Given the description of an element on the screen output the (x, y) to click on. 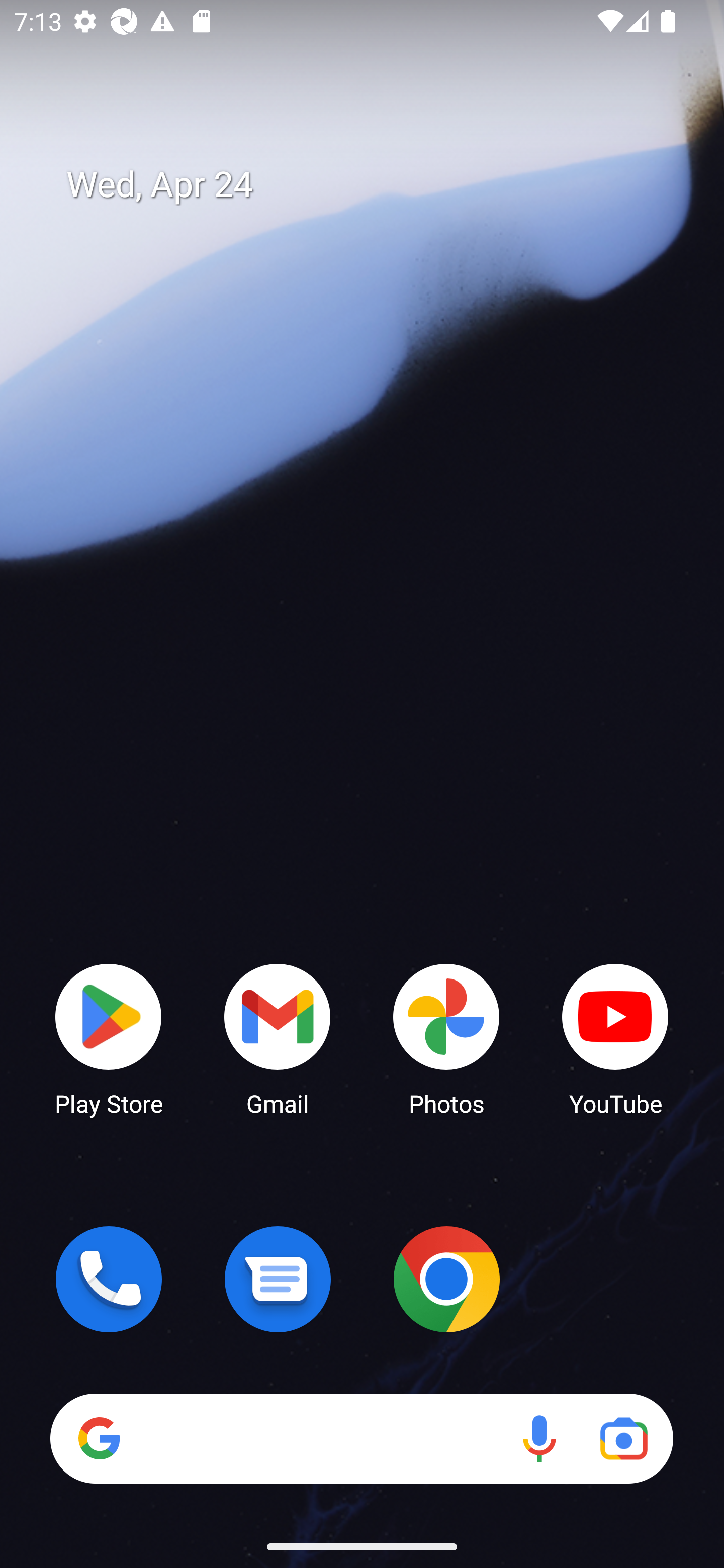
Wed, Apr 24 (375, 184)
Play Store (108, 1038)
Gmail (277, 1038)
Photos (445, 1038)
YouTube (615, 1038)
Phone (108, 1279)
Messages (277, 1279)
Chrome (446, 1279)
Search Voice search Google Lens (361, 1438)
Voice search (539, 1438)
Google Lens (623, 1438)
